Given the description of an element on the screen output the (x, y) to click on. 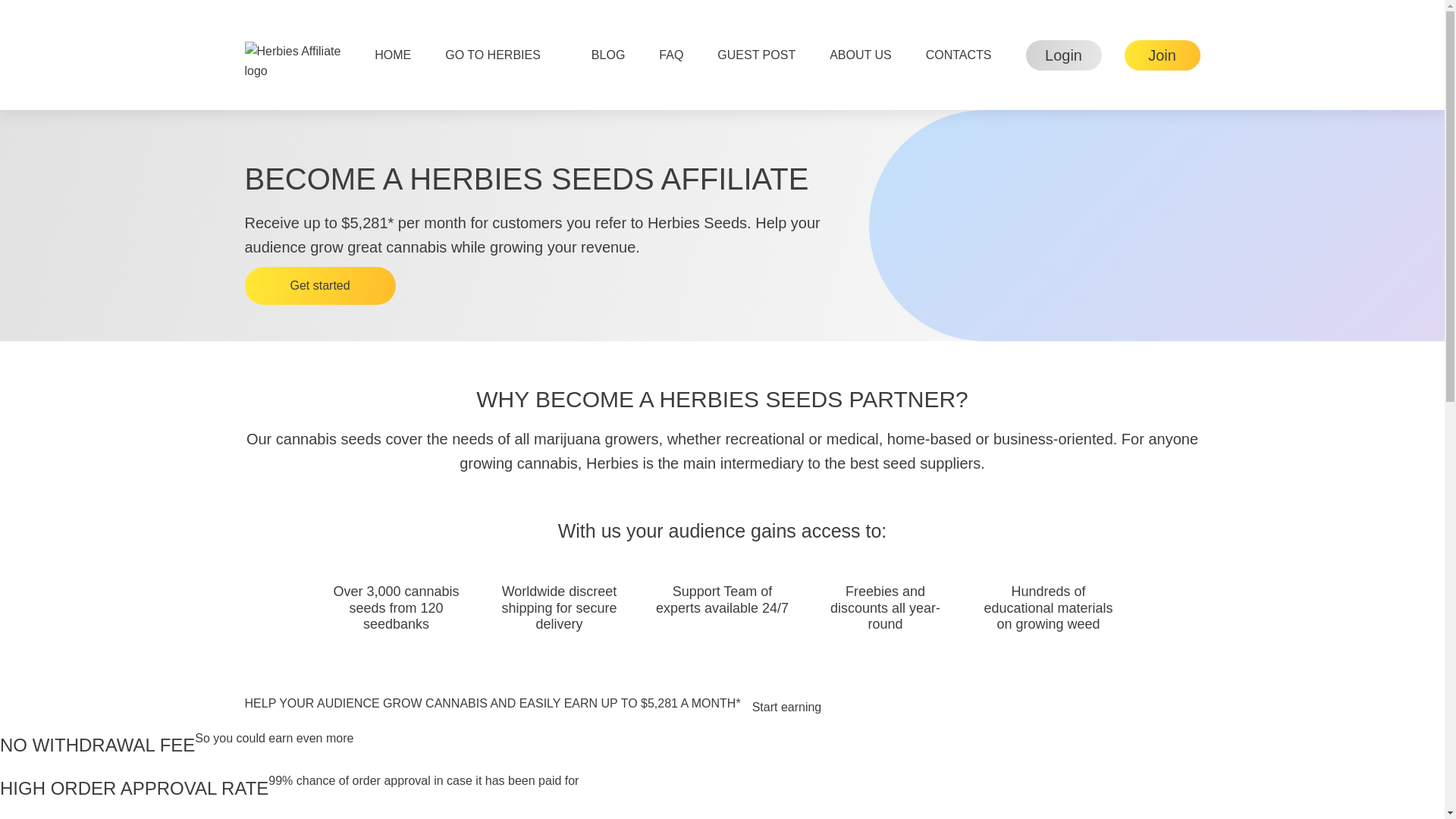
Join (1161, 54)
Login (1062, 54)
ABOUT US (860, 54)
Get started (319, 285)
BLOG (607, 54)
HOME (392, 54)
CONTACTS (958, 54)
GO TO HERBIES (501, 54)
Start earning (786, 707)
FAQ (670, 54)
GUEST POST (756, 54)
